Given the description of an element on the screen output the (x, y) to click on. 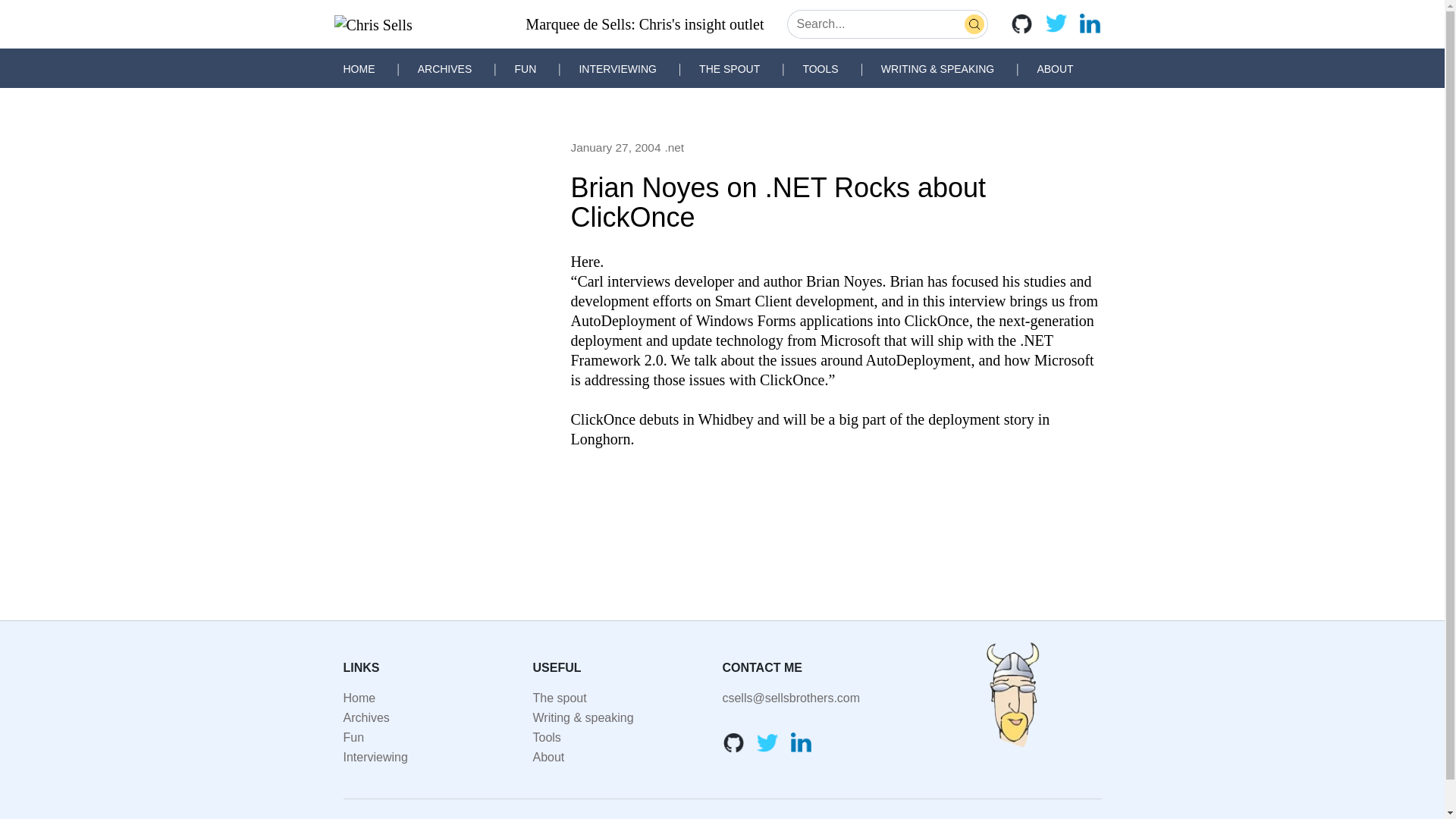
Here (584, 261)
INTERVIEWING (617, 69)
THE SPOUT (729, 69)
Archives (365, 717)
Fun (353, 737)
January 27, 2004 (615, 148)
GitHub (1021, 23)
GitHub (733, 742)
Twitter (766, 742)
LinkedIn (1089, 23)
FUN (524, 69)
Home (358, 697)
TOOLS (820, 69)
Marquee de Sells: Chris's insight outlet (643, 23)
Twitter (1056, 23)
